Given the description of an element on the screen output the (x, y) to click on. 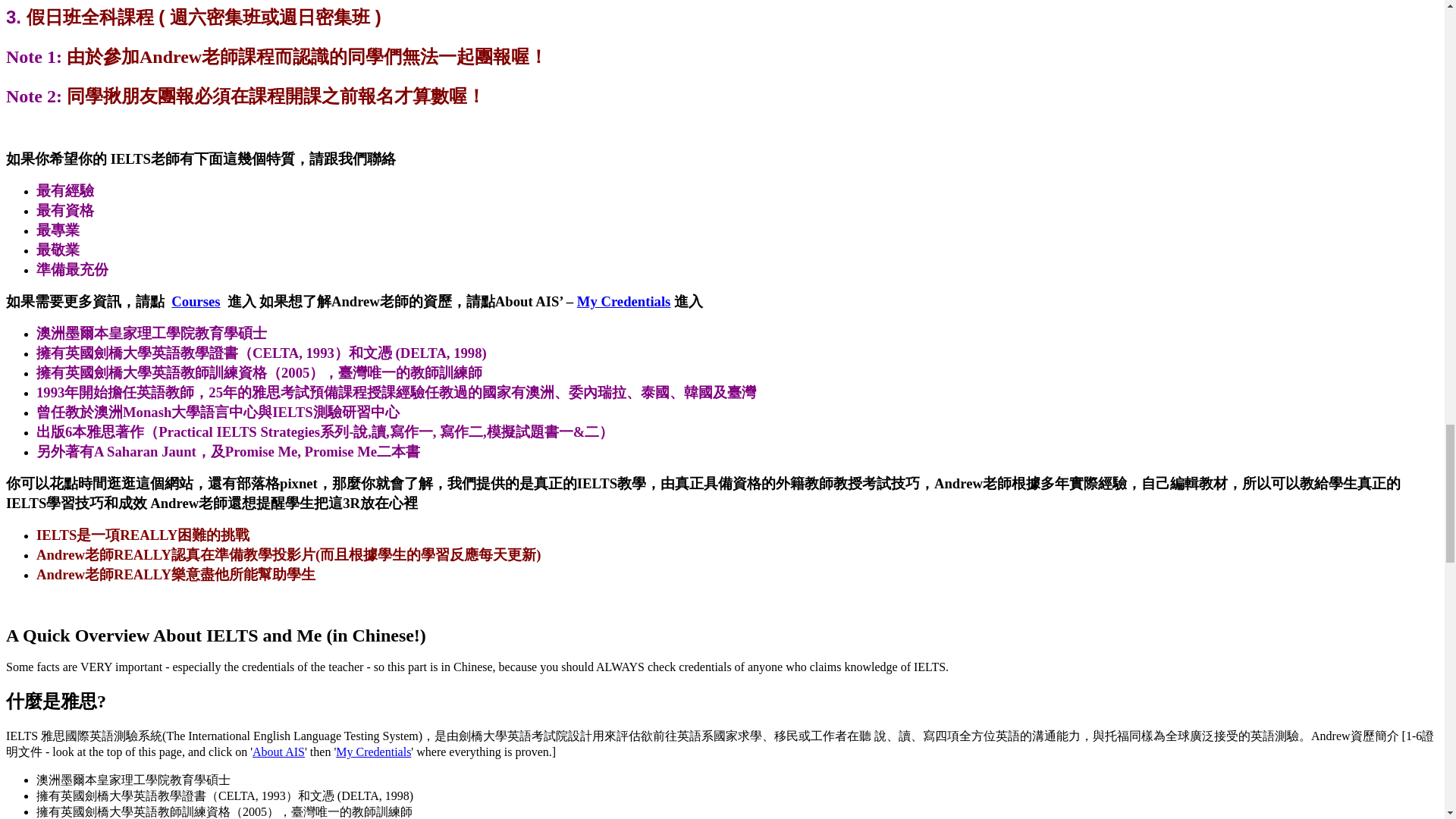
My Credentials (623, 301)
About AIS (277, 751)
My Credentials (373, 751)
Courses (195, 301)
